Given the description of an element on the screen output the (x, y) to click on. 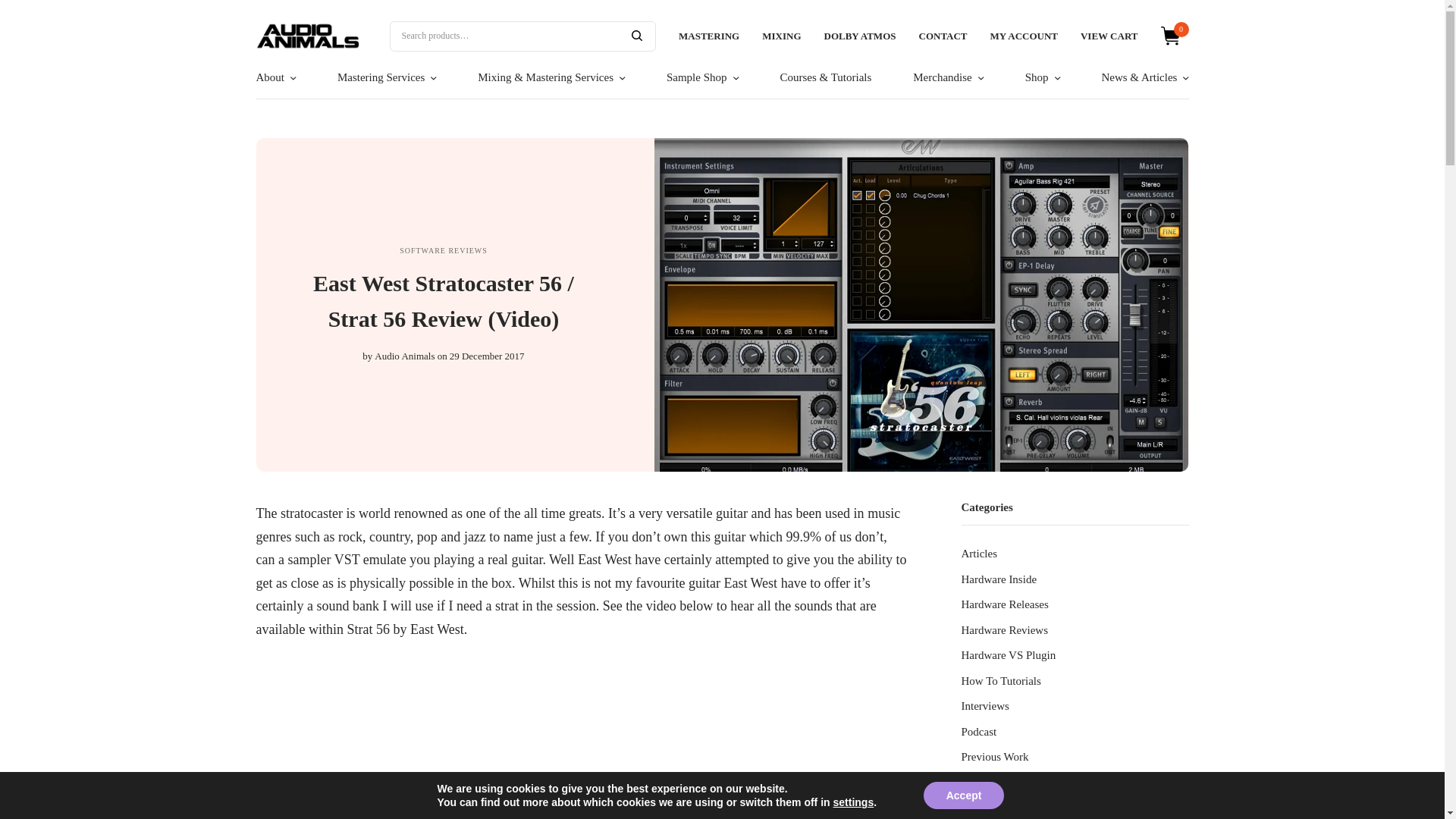
MY ACCOUNT (1024, 35)
MIXING (780, 35)
Audio Animals Ltd. (307, 35)
Search (636, 35)
About (276, 77)
DOLBY ATMOS (859, 35)
CONTACT (943, 35)
Posts by Audio Animals (403, 356)
VIEW CART (1109, 35)
MASTERING (708, 35)
YouTube video player (582, 744)
Mastering Services (386, 77)
